Given the description of an element on the screen output the (x, y) to click on. 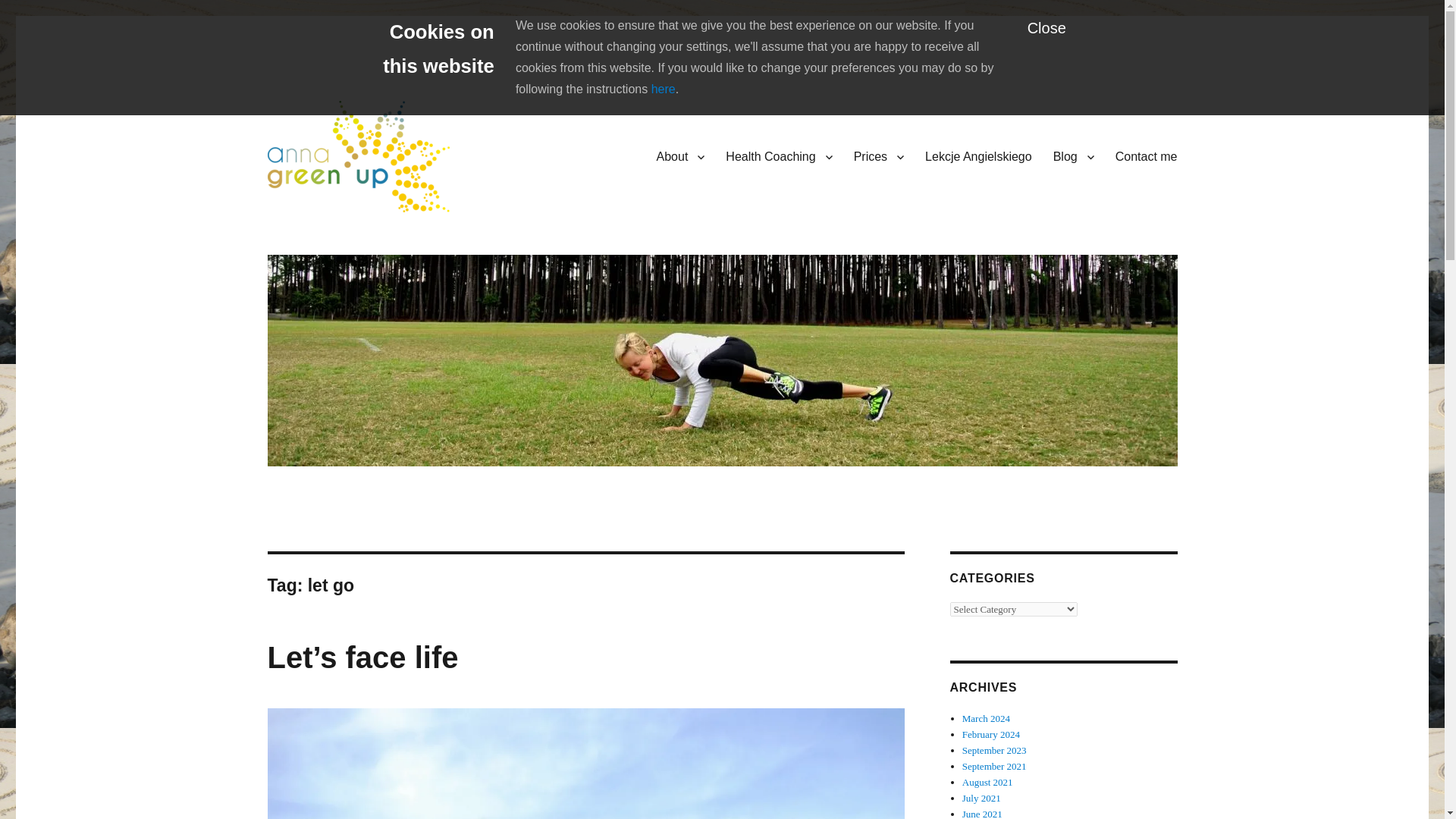
Prices (878, 156)
Health Coaching (778, 156)
About (681, 156)
Lekcje Angielskiego (978, 156)
here (662, 88)
Health Coaching (349, 236)
Close (1046, 27)
Contact me (1146, 156)
Blog (1073, 156)
